Given the description of an element on the screen output the (x, y) to click on. 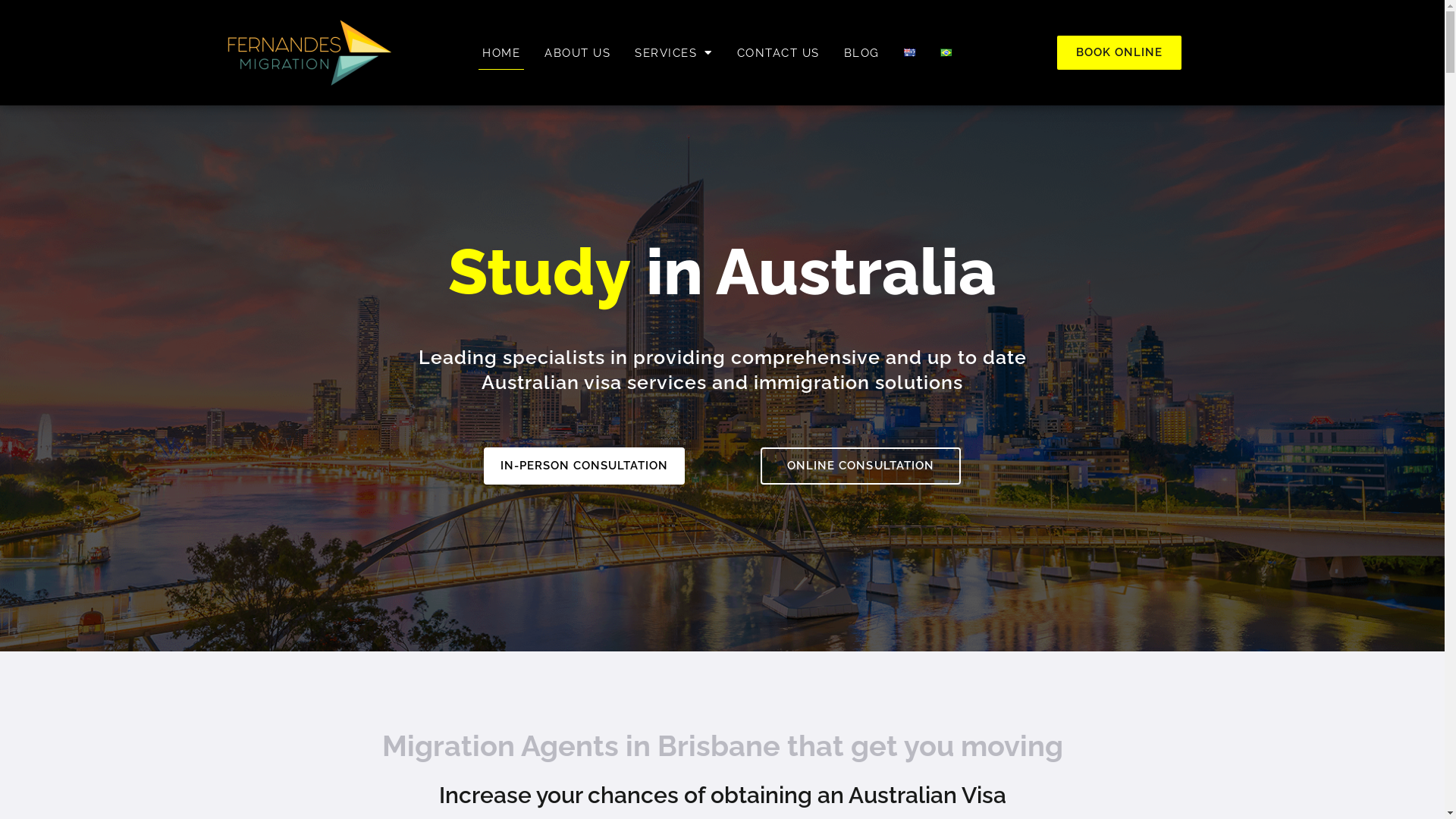
ONLINE CONSULTATION Element type: text (859, 465)
SERVICES Element type: text (673, 52)
IN-PERSON CONSULTATION Element type: text (583, 465)
ABOUT US Element type: text (577, 52)
logo-fm Element type: hover (309, 52)
BOOK ONLINE Element type: text (1119, 52)
CONTACT US Element type: text (778, 52)
BLOG Element type: text (861, 52)
HOME Element type: text (501, 52)
